Given the description of an element on the screen output the (x, y) to click on. 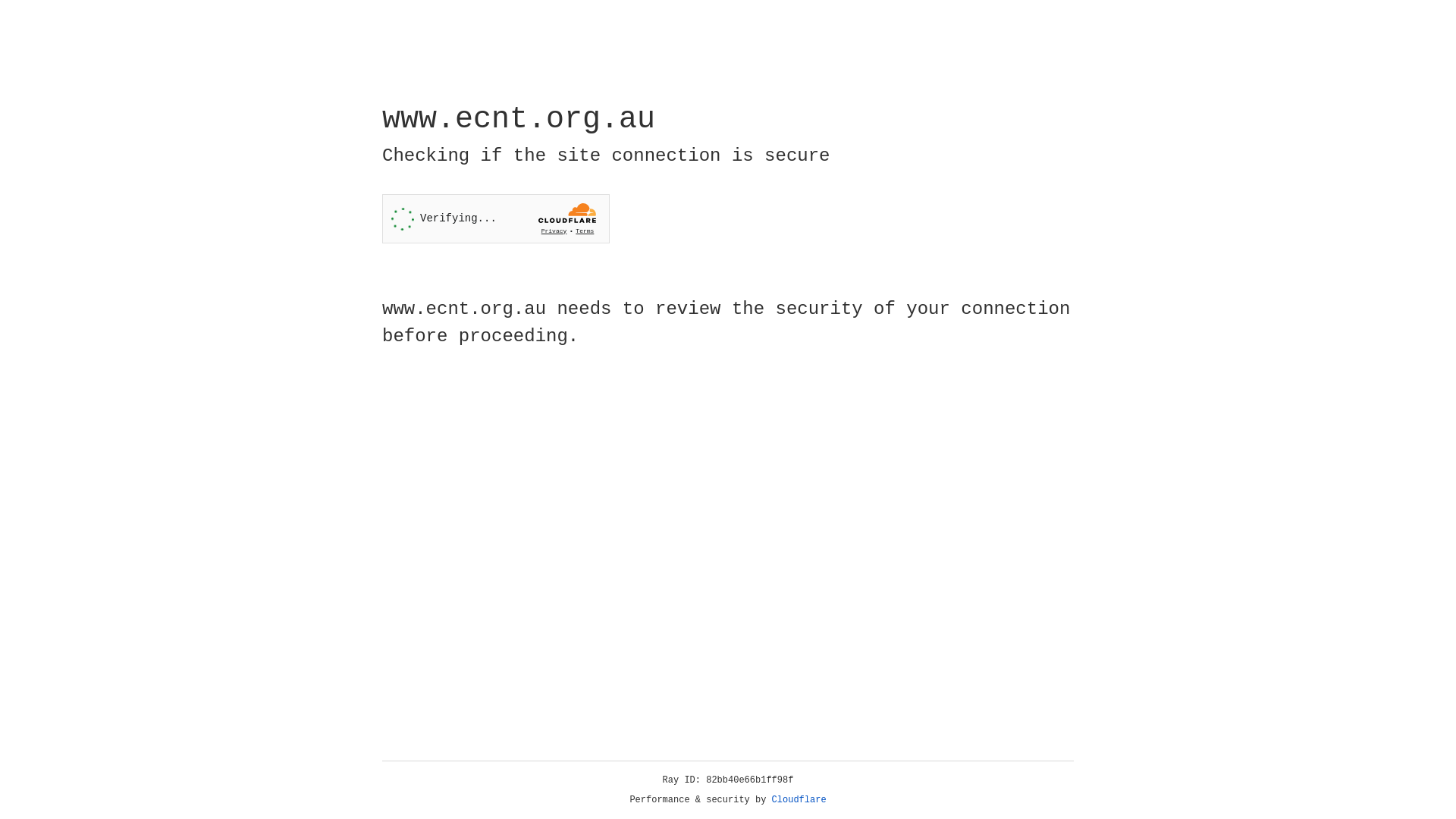
Cloudflare Element type: text (798, 799)
